Given the description of an element on the screen output the (x, y) to click on. 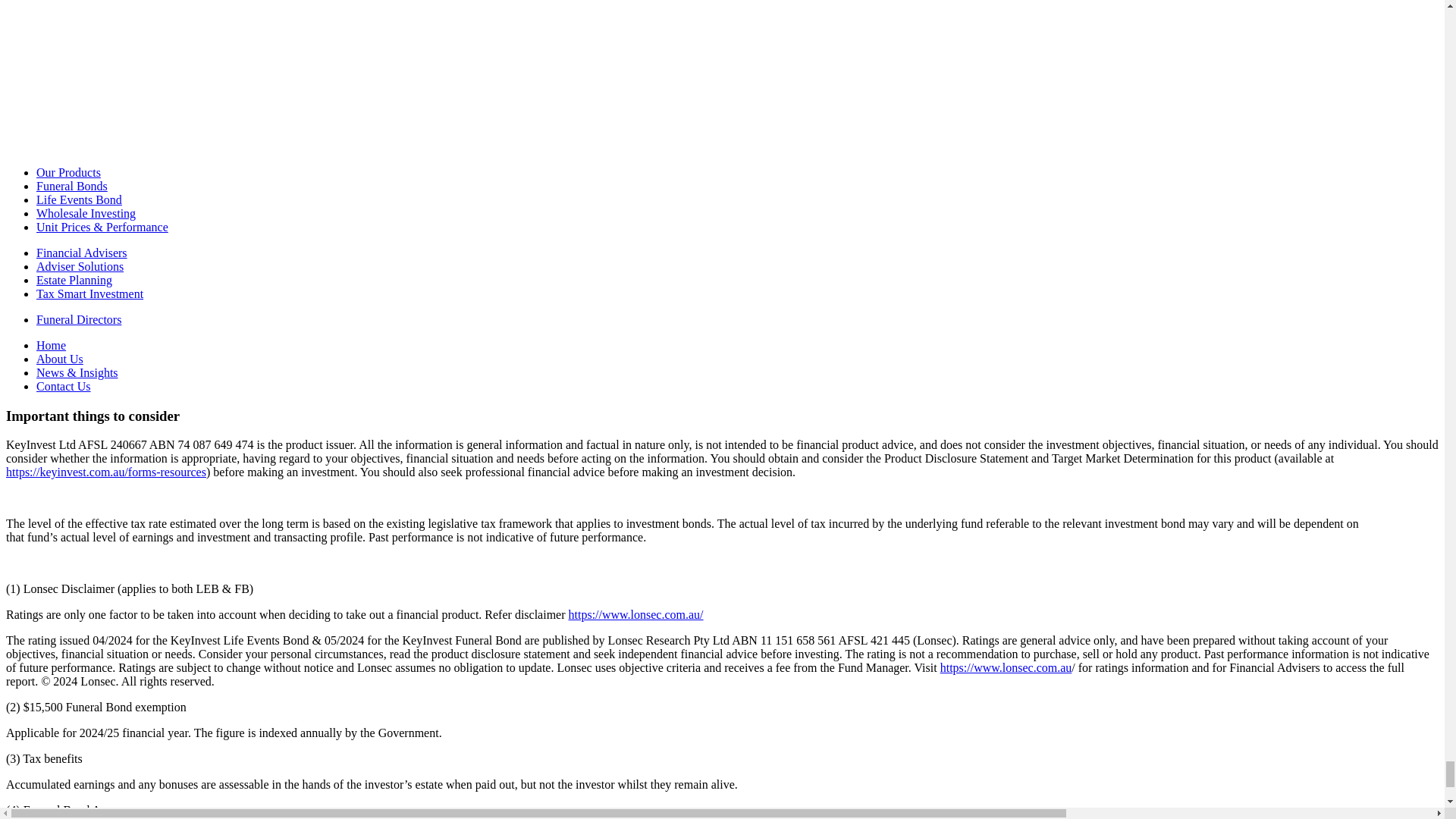
Funeral Directors (78, 318)
About Us (59, 358)
Contact Us (63, 386)
Tax Smart Investment (89, 293)
Financial Advisers (82, 252)
Adviser Solutions (79, 266)
Home (50, 345)
Funeral Bonds (71, 185)
Estate Planning (74, 279)
Life Events Bond (79, 199)
